Given the description of an element on the screen output the (x, y) to click on. 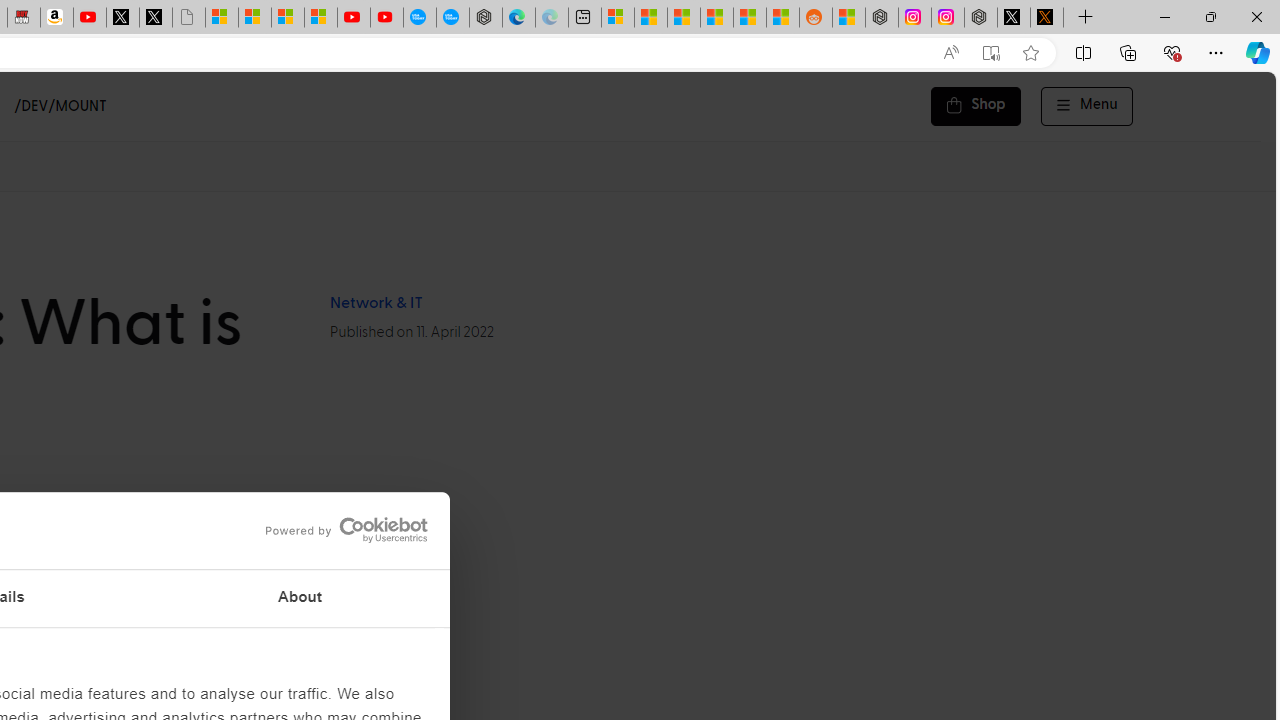
Powered by Cookiebot (345, 530)
Shop (975, 106)
